Given the description of an element on the screen output the (x, y) to click on. 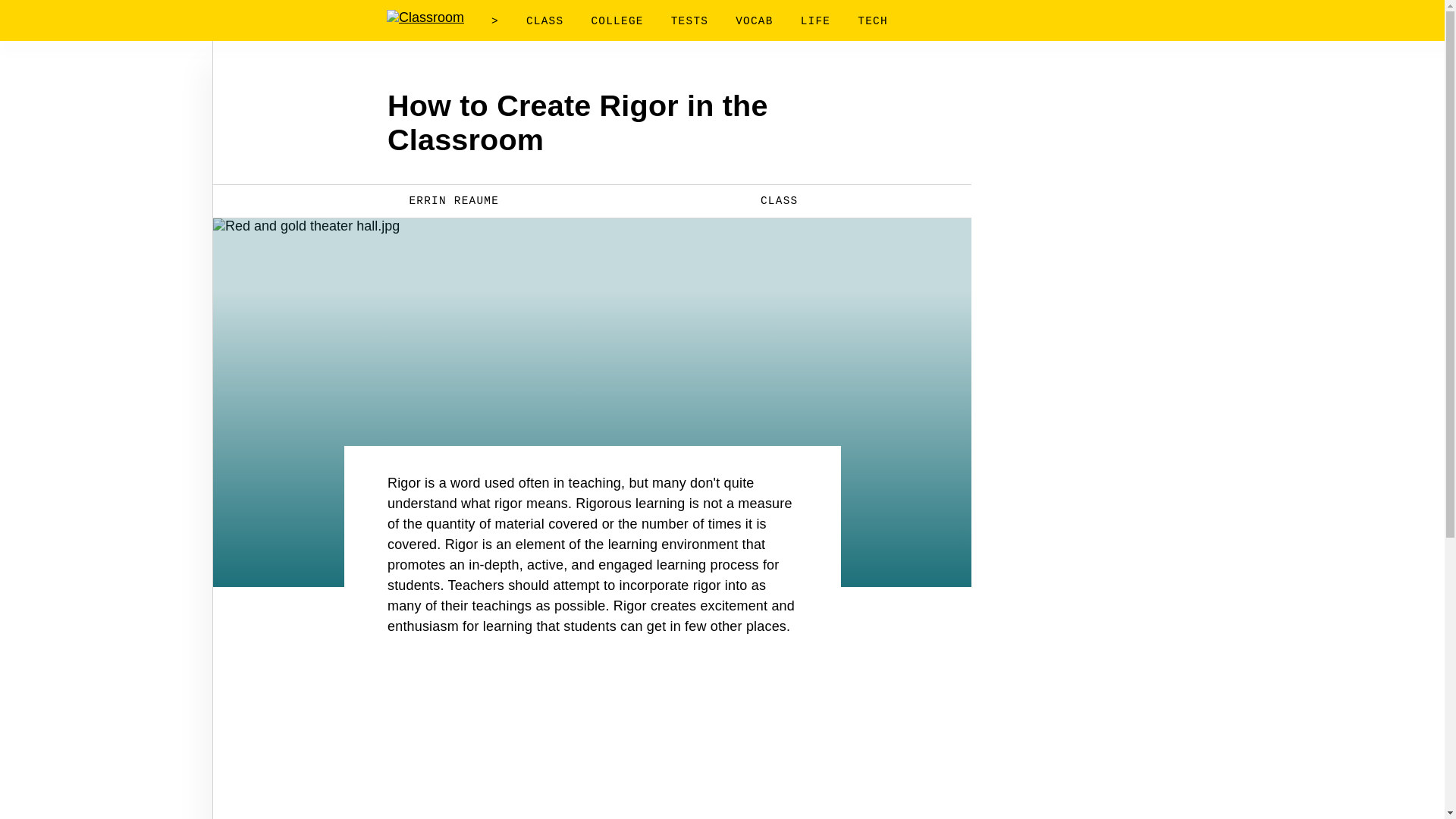
VOCAB (754, 21)
LIFE (815, 21)
COLLEGE (617, 21)
TESTS (689, 21)
CLASS (768, 200)
CLASS (544, 21)
TECH (872, 21)
